Given the description of an element on the screen output the (x, y) to click on. 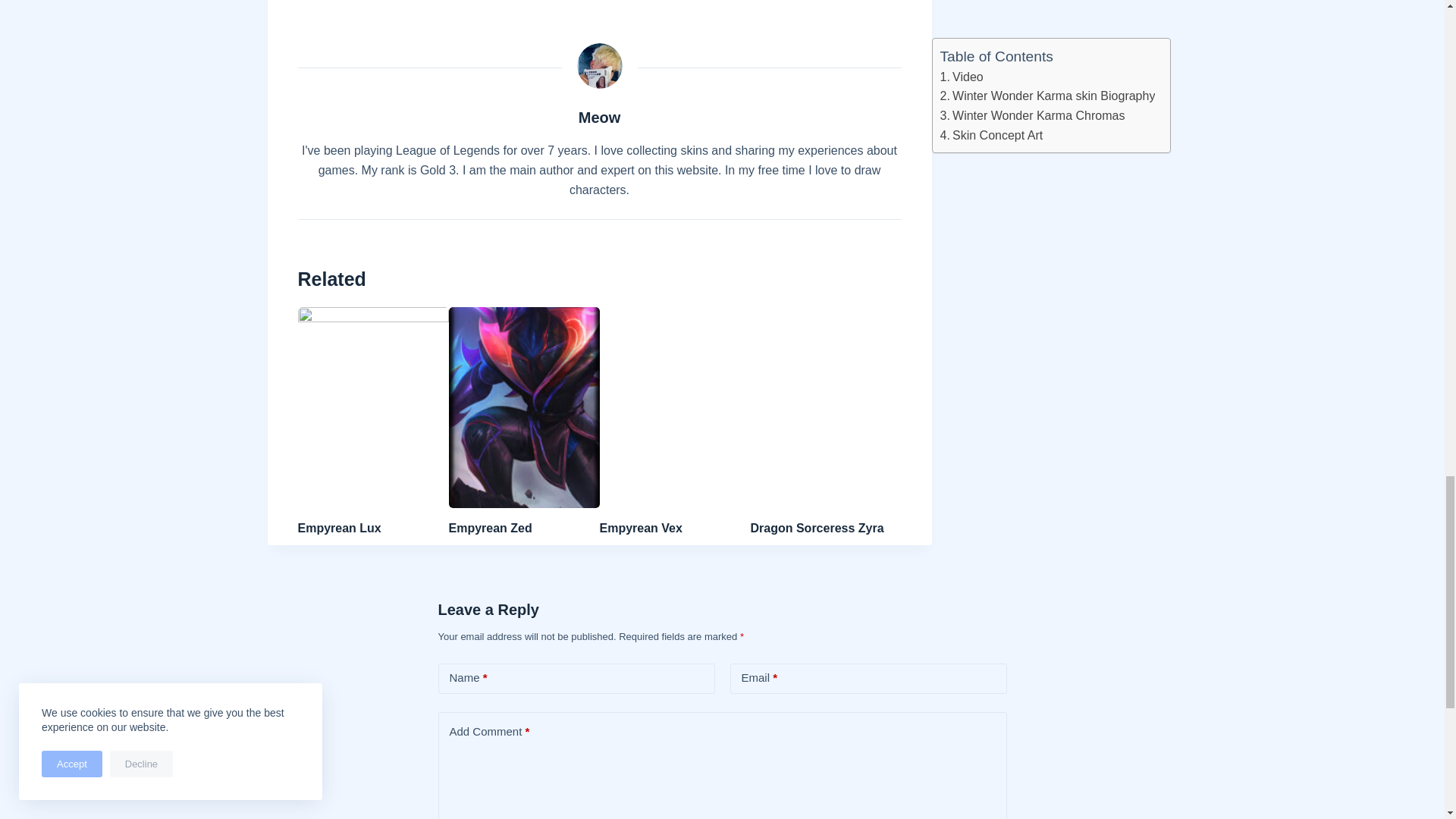
Empyrean Zed (490, 527)
Empyrean Vex (639, 527)
Empyrean Lux (338, 527)
Dragon Sorceress Zyra (817, 527)
